Given the description of an element on the screen output the (x, y) to click on. 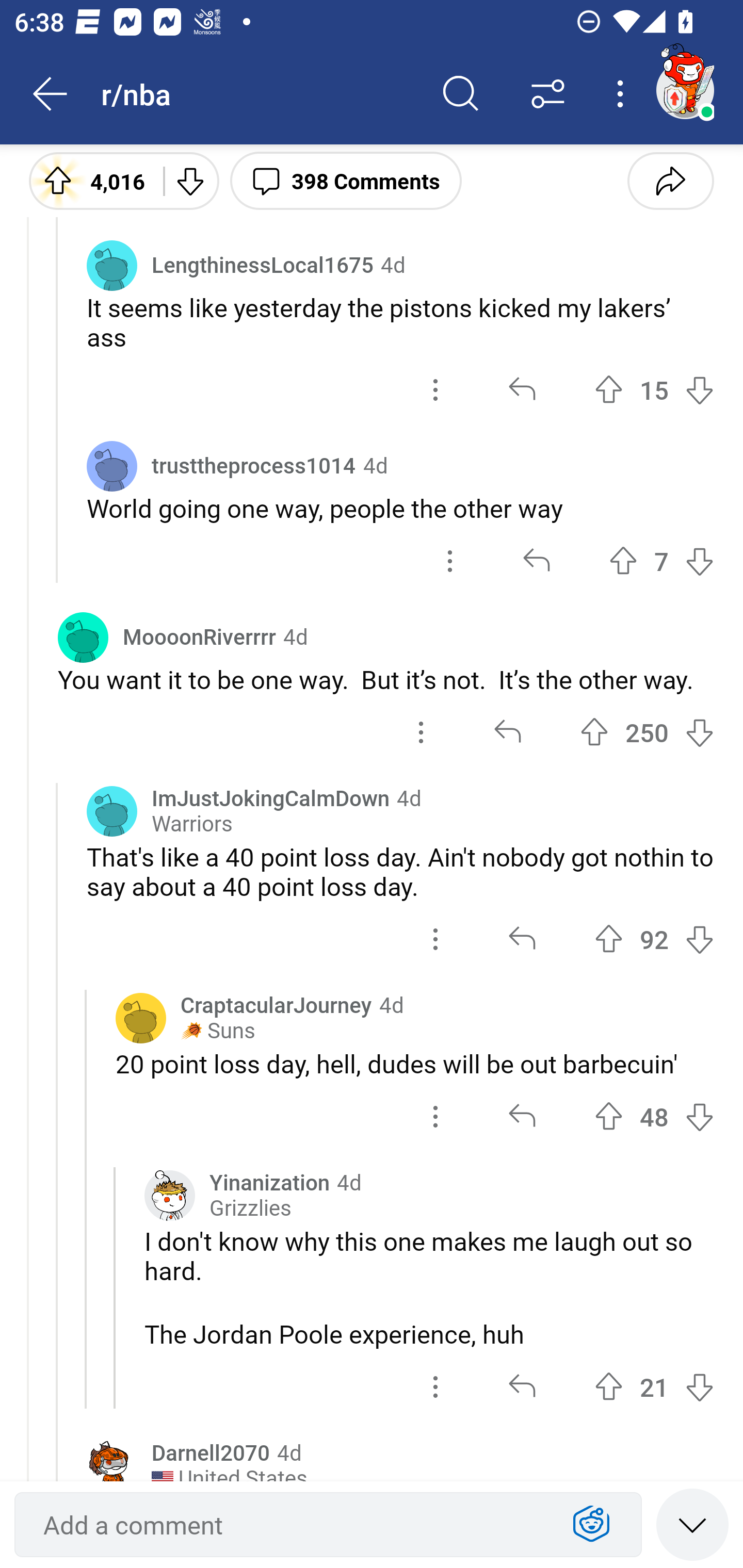
Back (50, 93)
TestAppium002 account (685, 90)
Search comments (460, 93)
Sort comments (547, 93)
More options (623, 93)
r/nba (259, 92)
Upvote 4,016 (88, 180)
Downvote (189, 180)
398 Comments (346, 180)
Share (670, 180)
Avatar (111, 264)
options (435, 390)
Upvote 15 15 votes Downvote (654, 390)
Avatar (111, 465)
World going one way, people the other way (400, 507)
options (449, 561)
Upvote 7 7 votes Downvote (661, 561)
Avatar (82, 636)
options (420, 732)
Upvote 250 250 votes Downvote (647, 732)
Avatar (111, 811)
Warriors (192, 823)
options (435, 939)
Upvote 92 92 votes Downvote (654, 939)
Avatar (140, 1017)
￼ Suns (217, 1029)
options (435, 1116)
Upvote 48 48 votes Downvote (654, 1116)
Custom avatar (169, 1195)
Grizzlies (250, 1207)
options (435, 1387)
Upvote 21 21 votes Downvote (654, 1387)
Avatar (111, 1460)
Speed read (692, 1524)
Add a comment (291, 1524)
Show Expressions (590, 1524)
